Given the description of an element on the screen output the (x, y) to click on. 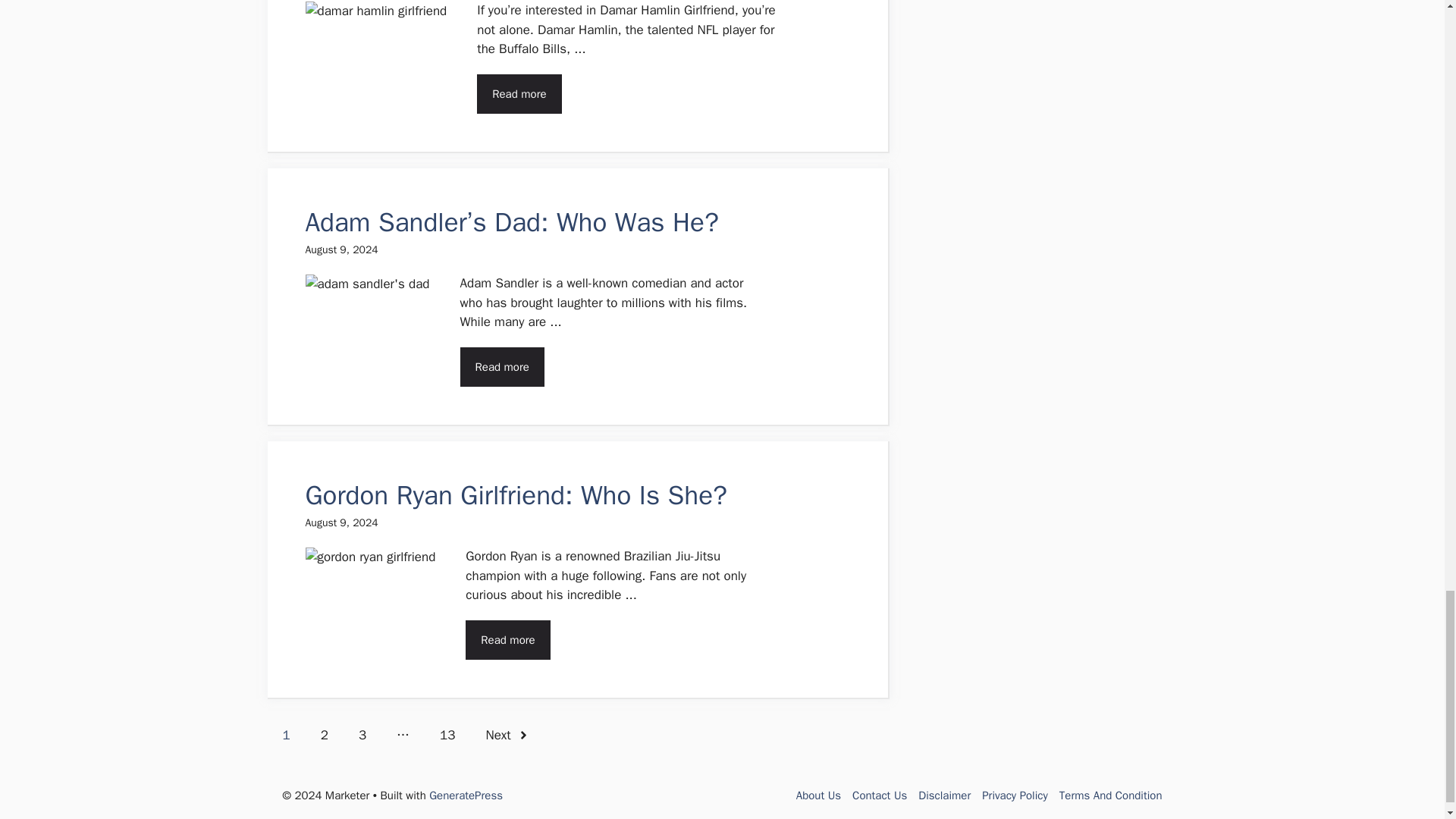
Read more (502, 366)
Read more (518, 93)
Gordon Ryan Girlfriend: Who Is She? (515, 494)
13 (447, 735)
2 (324, 735)
Next (507, 735)
Read more (507, 639)
3 (362, 735)
